Given the description of an element on the screen output the (x, y) to click on. 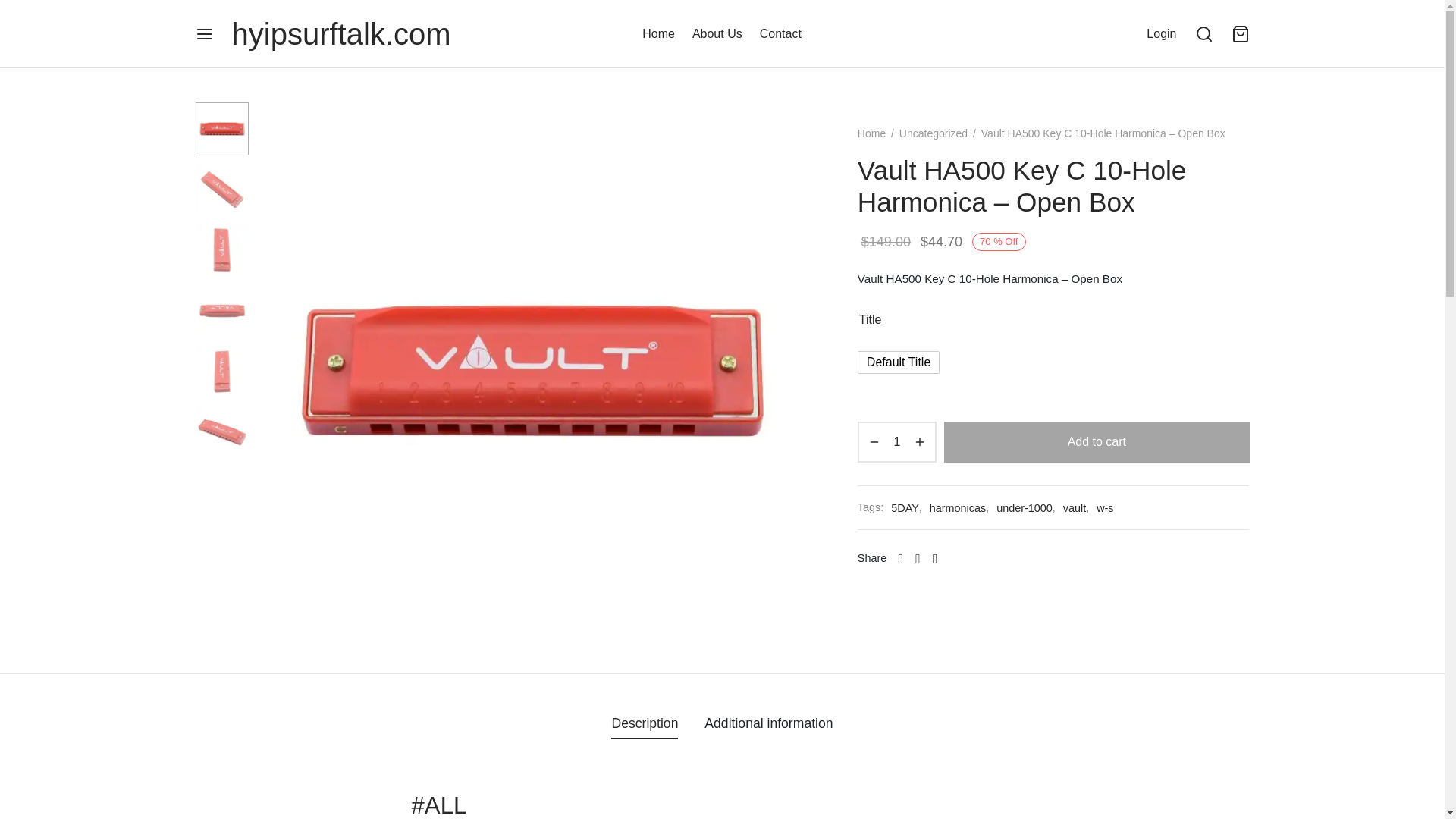
Additional information (768, 723)
harmonicas (957, 507)
vault (1074, 507)
5DAY (904, 507)
Add to cart (1096, 441)
About Us (717, 34)
hyipsurftalk.com (341, 33)
1 (896, 442)
Description (644, 723)
Home (871, 133)
under-1000 (1023, 507)
Contact (781, 34)
Home (658, 34)
Default Title (898, 362)
Login (1161, 33)
